Given the description of an element on the screen output the (x, y) to click on. 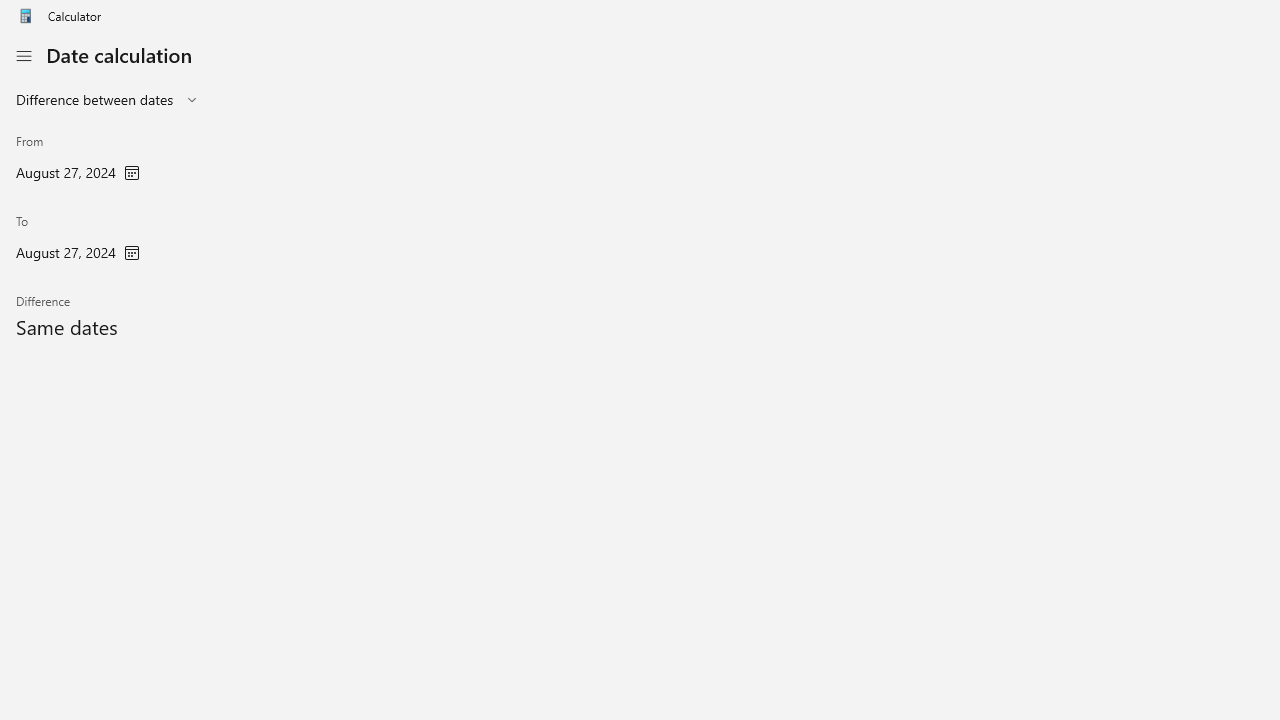
Calculation mode (108, 99)
From (77, 160)
To (77, 241)
Open Navigation (23, 56)
Difference between dates (94, 99)
